Given the description of an element on the screen output the (x, y) to click on. 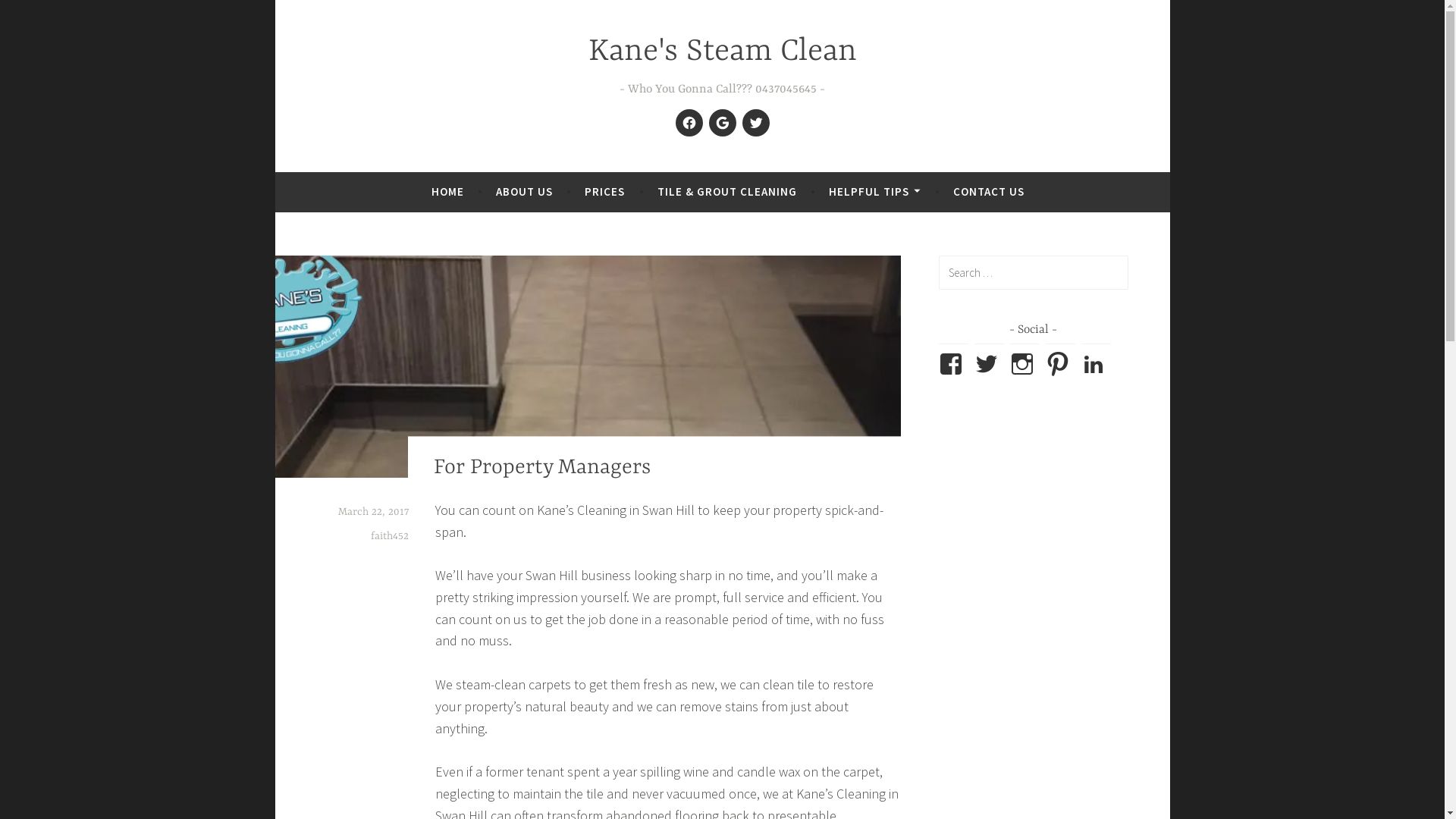
google+ Element type: text (721, 122)
Search Element type: text (33, 15)
HOME Element type: text (447, 191)
March 22, 2017 Element type: text (373, 511)
faith452 Element type: text (388, 536)
CONTACT US Element type: text (988, 191)
ABOUT US Element type: text (523, 191)
Kane's Steam Clean Element type: text (722, 51)
PRICES Element type: text (604, 191)
Twitter Element type: text (754, 122)
Facebook Element type: text (688, 122)
HELPFUL TIPS Element type: text (874, 191)
TILE & GROUT CLEANING Element type: text (727, 191)
